Given the description of an element on the screen output the (x, y) to click on. 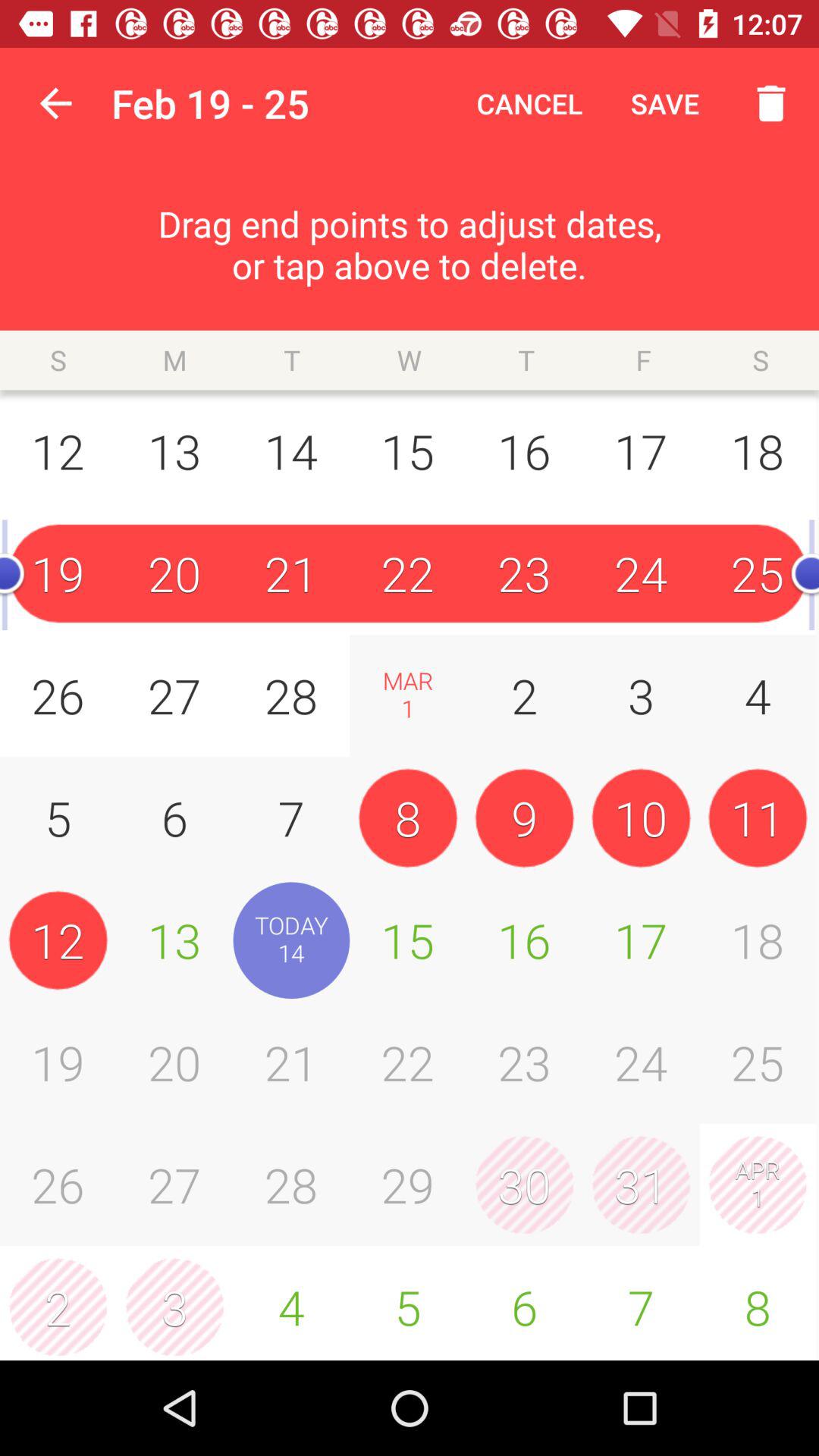
open the item above drag end points icon (55, 103)
